Given the description of an element on the screen output the (x, y) to click on. 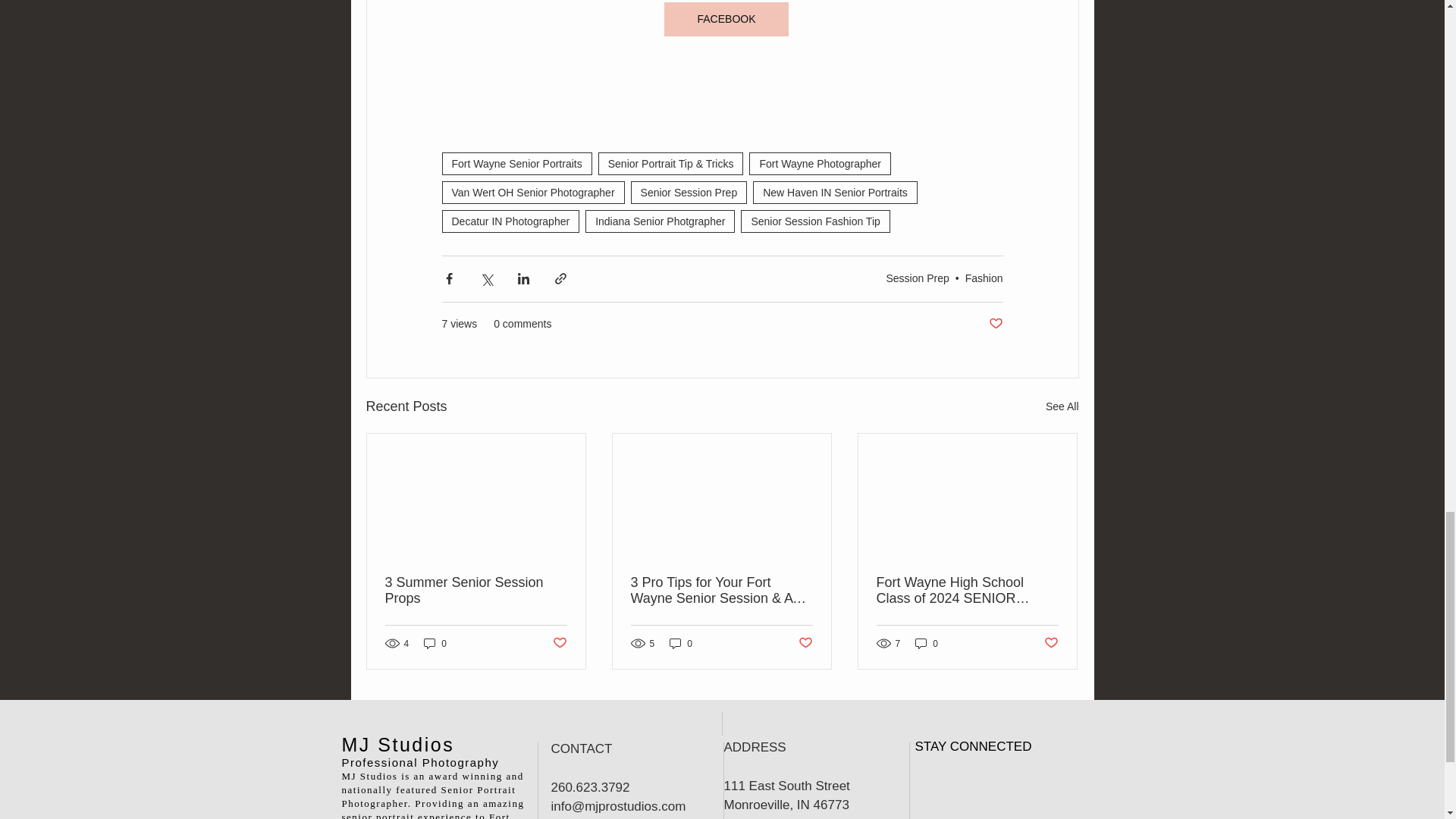
New Haven IN Senior Portraits (834, 191)
Indiana Senior Photgrapher (660, 220)
See All (1061, 406)
Session Prep (917, 277)
Post not marked as liked (995, 324)
3 Summer Senior Session Props (476, 590)
Decatur IN Photographer (510, 220)
Fashion (984, 277)
0 (681, 643)
Senior Session Fashion Tip (815, 220)
